Given the description of an element on the screen output the (x, y) to click on. 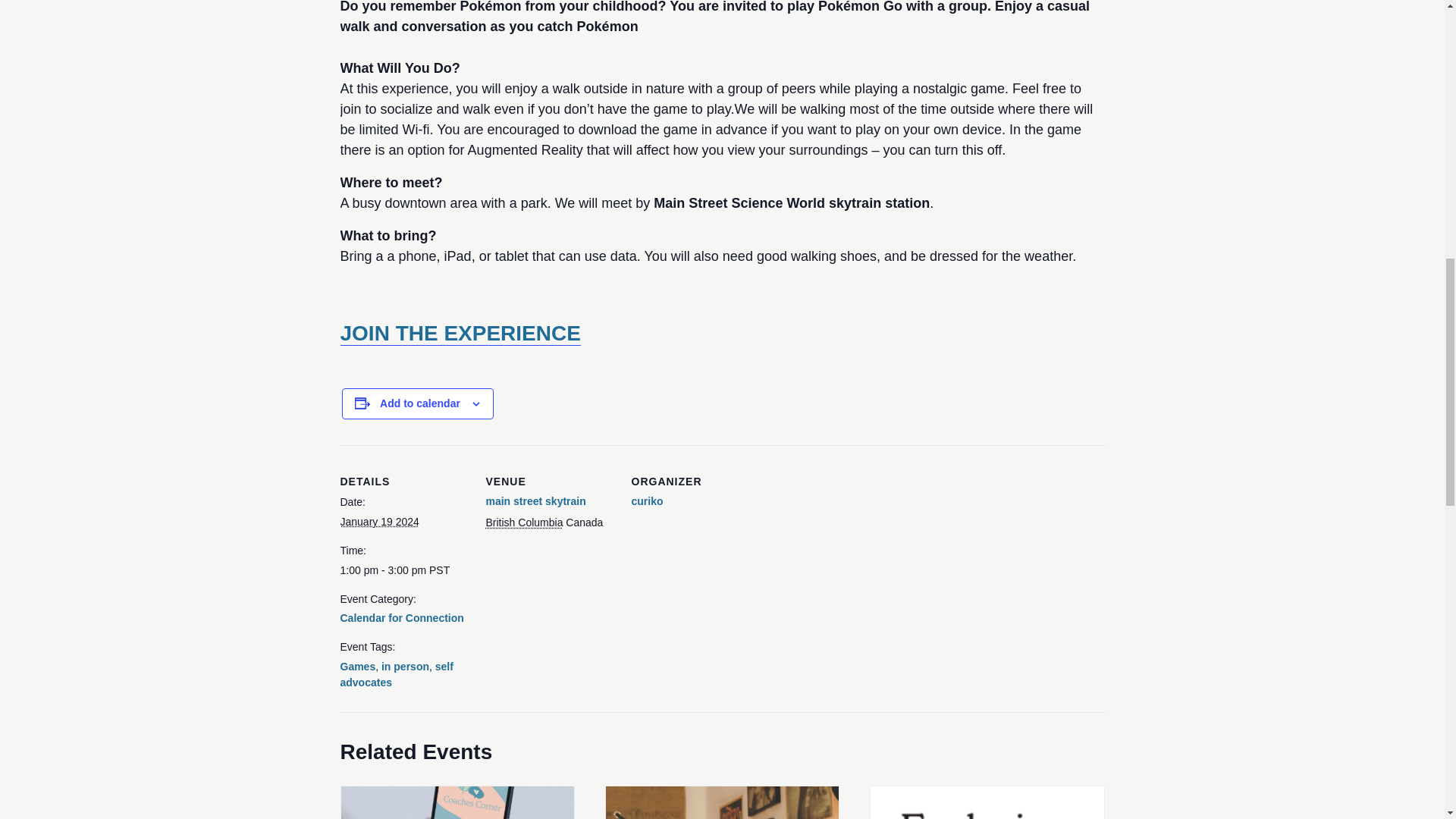
curiko (646, 500)
British Columbia (523, 522)
2024-01-19 (403, 570)
2024-01-19 (379, 521)
